Given the description of an element on the screen output the (x, y) to click on. 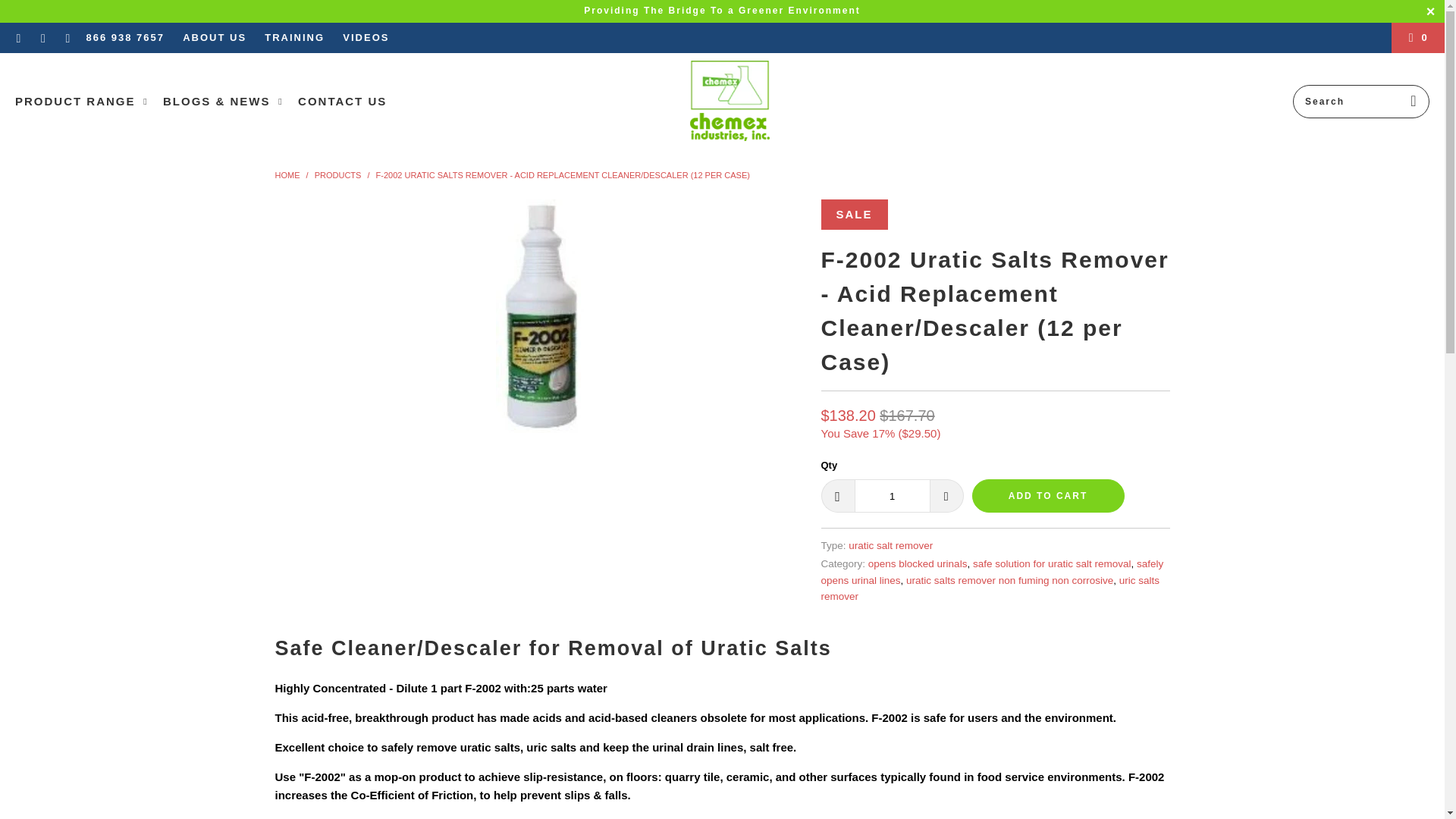
Chemex Industries, Inc. (287, 174)
Chemex Industries, Inc. on Facebook (17, 37)
uratic salt remover (890, 545)
Products tagged safe solution for uratic salt removal (1051, 563)
Products tagged safely opens urinal lines (992, 571)
Products tagged opens blocked urinals (917, 563)
Chemex Industries, Inc. (730, 101)
Email Chemex Industries, Inc. (67, 37)
1 (891, 495)
Products (337, 174)
Chemex Industries, Inc. on LinkedIn (42, 37)
Products tagged uric salts remover (989, 588)
